Given the description of an element on the screen output the (x, y) to click on. 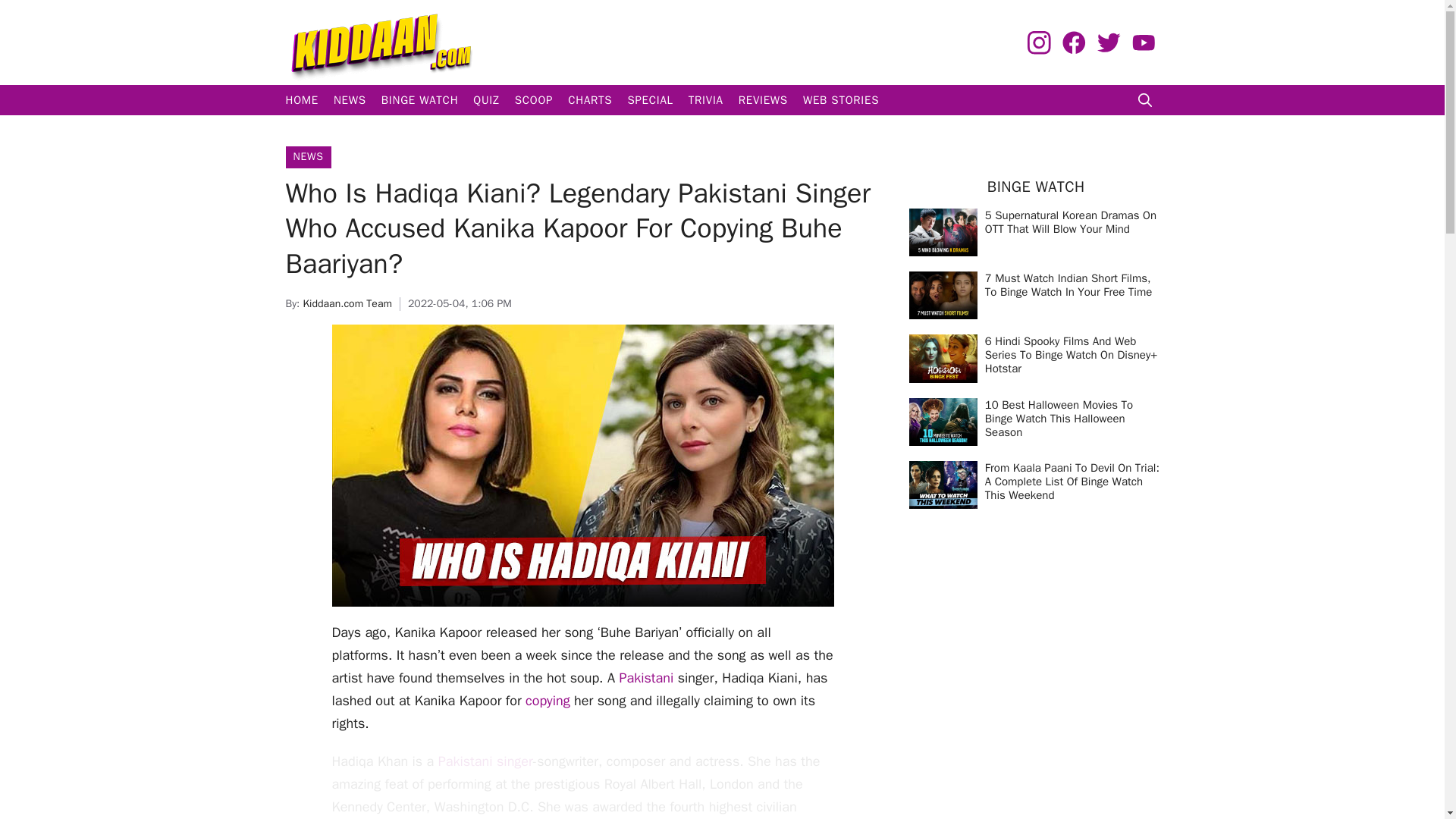
CHARTS (590, 100)
REVIEWS (762, 100)
SPECIAL (649, 100)
Kiddaan.com Team (346, 303)
Pakistani (645, 677)
HOME (301, 100)
BINGE WATCH (419, 100)
TRIVIA (705, 100)
SCOOP (533, 100)
WEB STORIES (840, 100)
NEWS (350, 100)
Pakistani singer (485, 760)
